Given the description of an element on the screen output the (x, y) to click on. 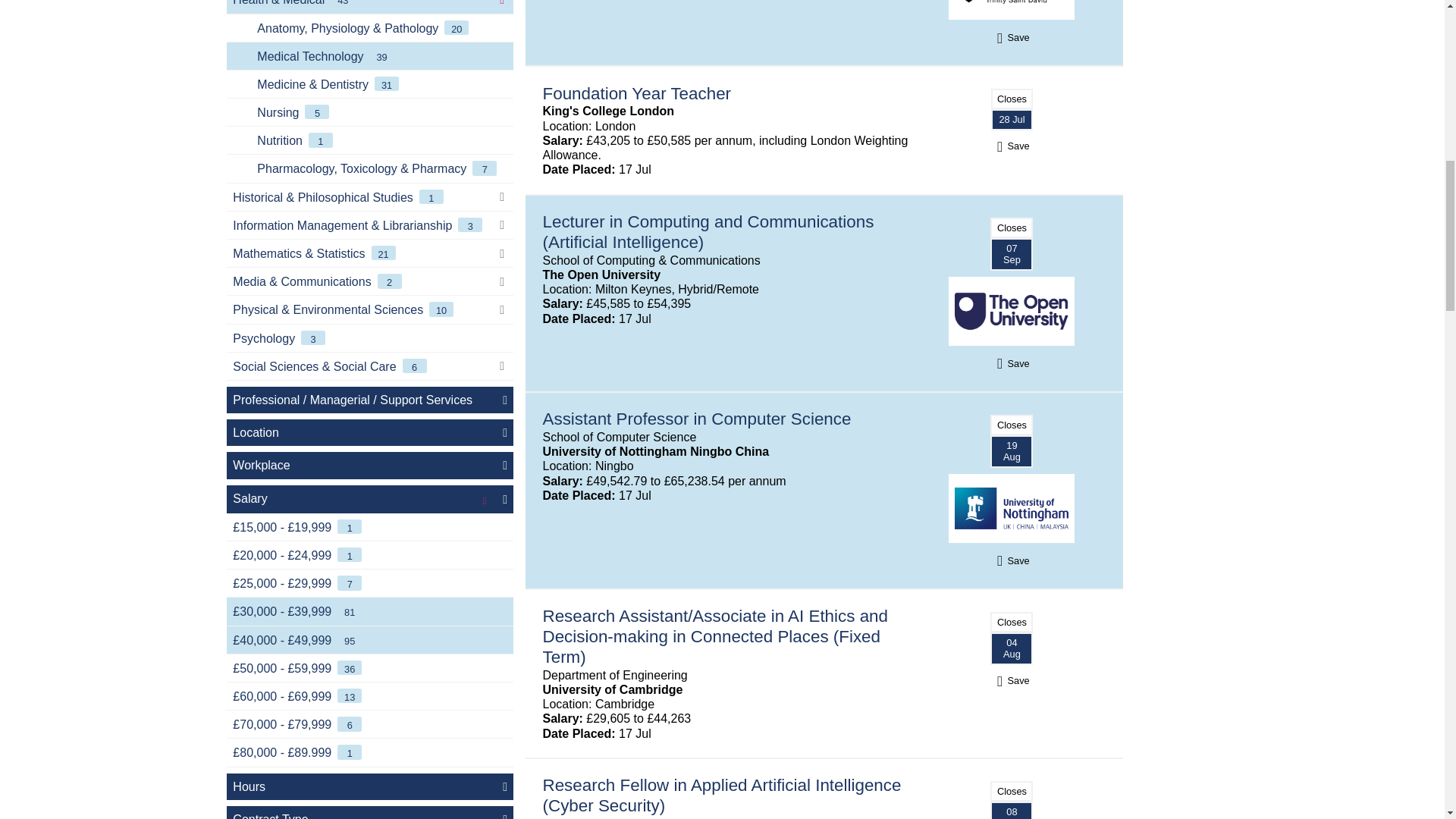
Save job (1011, 680)
Foundation Year Teacher (637, 93)
Save job (1011, 560)
Save job (1011, 37)
Save (1011, 37)
Assistant Professor in Computer Science (697, 418)
Save (1011, 560)
Save (1011, 363)
Save (1011, 680)
Save job (1011, 363)
Save (1011, 145)
Save job (1011, 145)
